Given the description of an element on the screen output the (x, y) to click on. 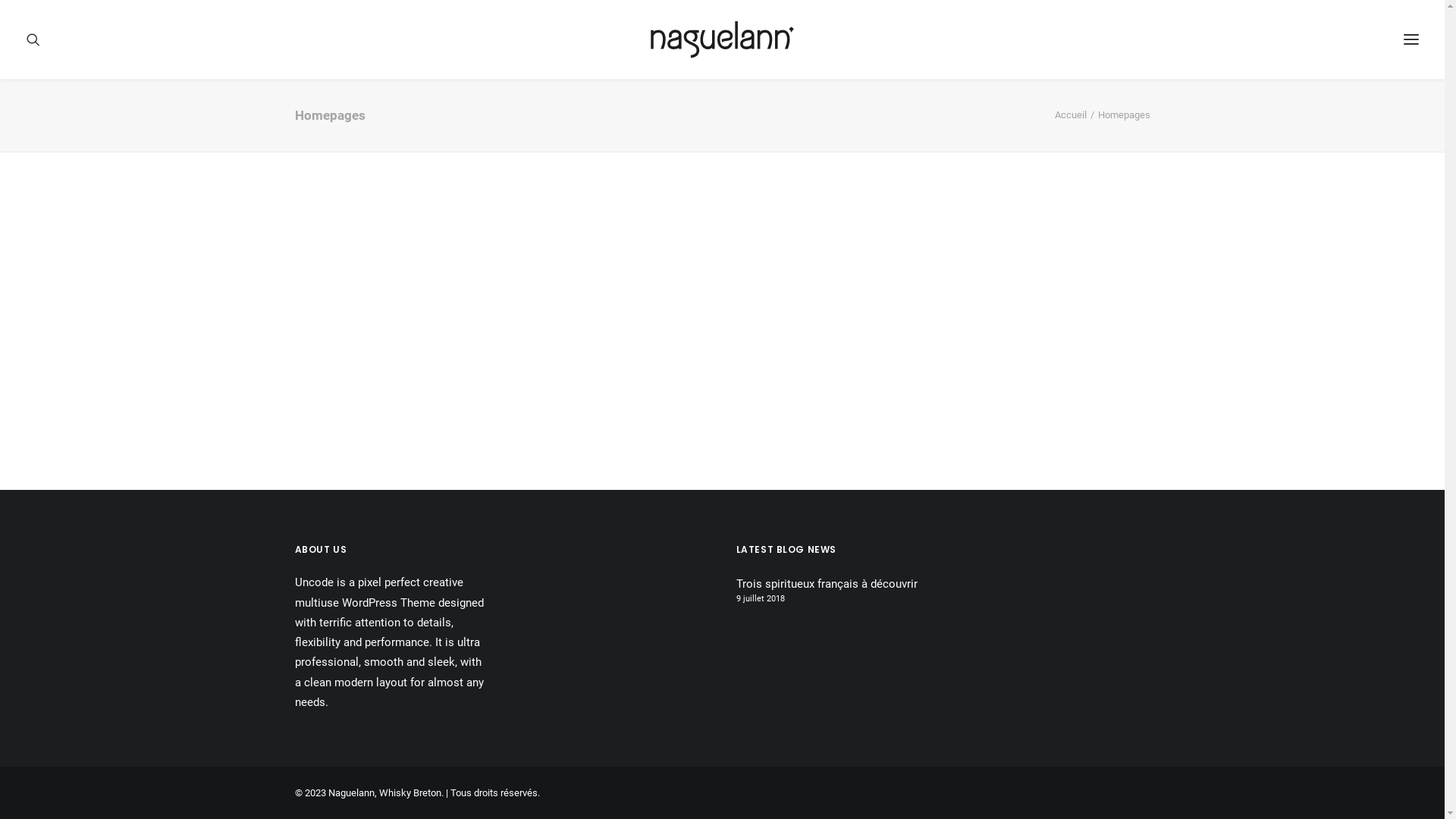
Accueil Element type: text (1069, 114)
